Given the description of an element on the screen output the (x, y) to click on. 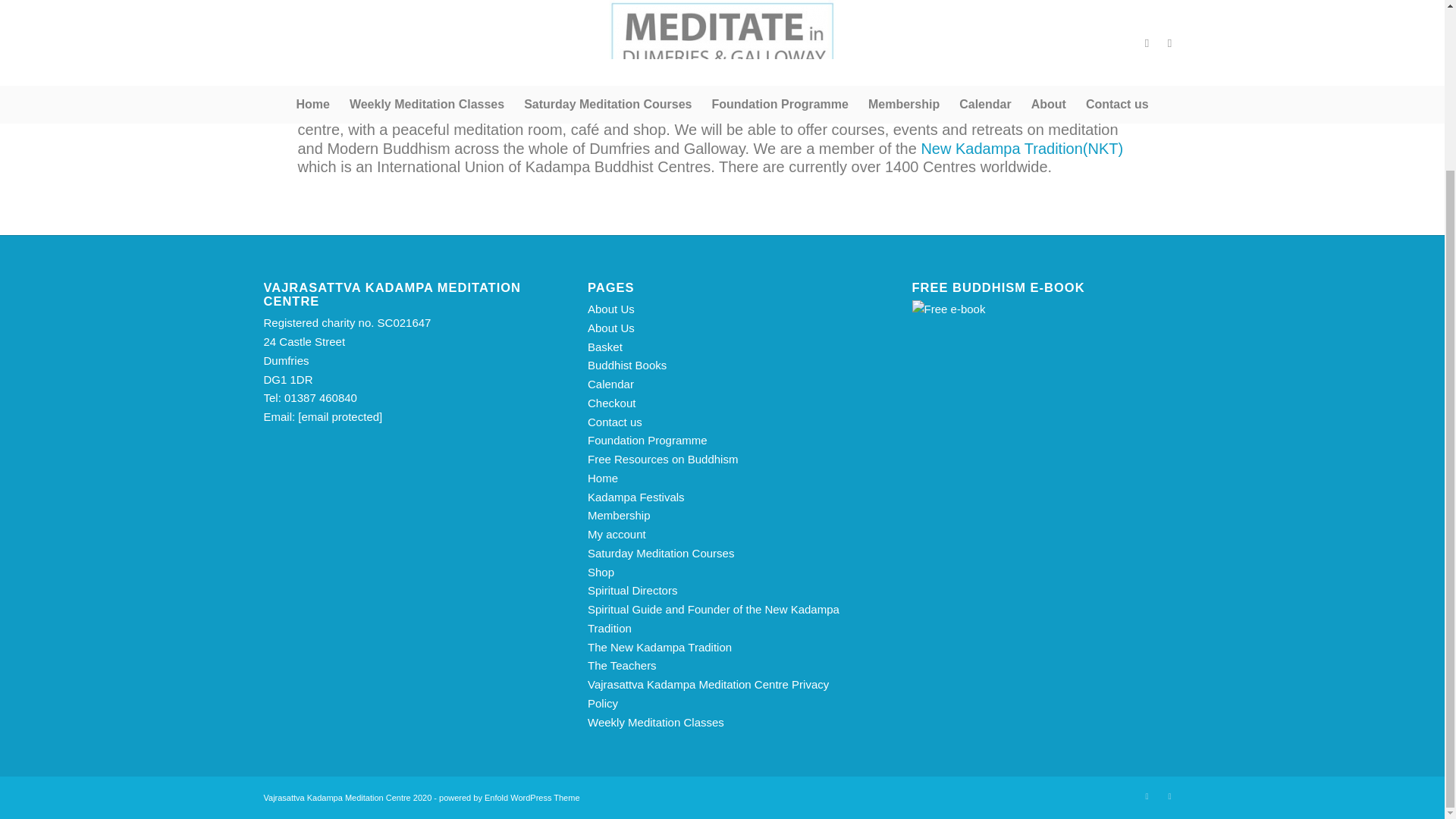
Calendar (610, 383)
Facebook (1146, 795)
Kadampa Festivals (636, 496)
Instagram (1169, 795)
About Us (611, 327)
Home (602, 477)
Foundation Programme (647, 440)
Contact us (615, 421)
Free Resources on Buddhism (663, 459)
Basket (605, 346)
Buddhist Books (627, 364)
Shop (601, 571)
Saturday Meditation Courses (660, 553)
About Us (611, 308)
Checkout (611, 402)
